Given the description of an element on the screen output the (x, y) to click on. 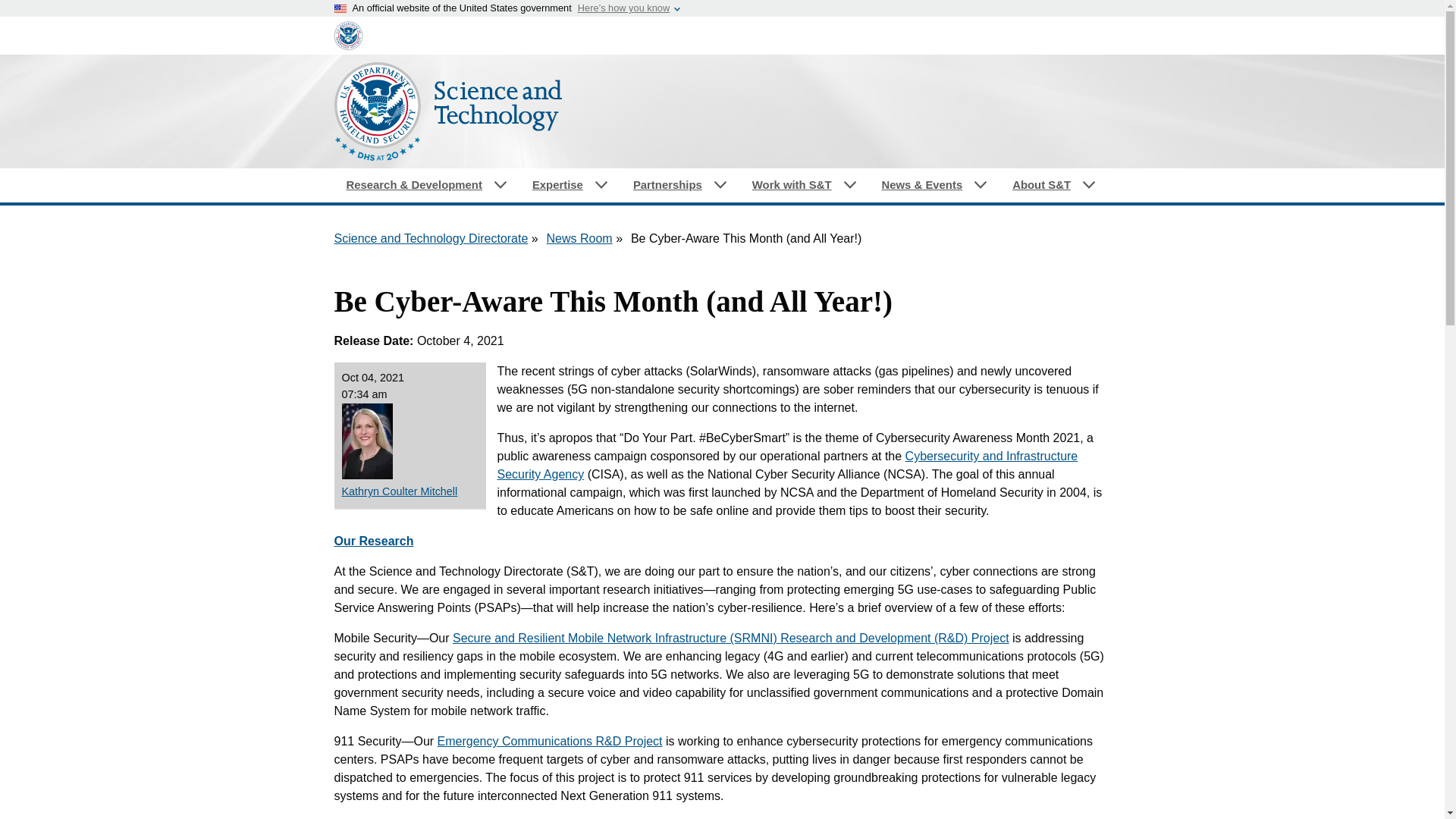
Cybersecurity and Infrastructure Security Agency (787, 464)
Expertise (570, 185)
Our Research (373, 540)
News Room (579, 237)
Kathryn Coulter Mitchell (408, 492)
Partnerships (680, 185)
Science and Technology Directorate (430, 237)
